Given the description of an element on the screen output the (x, y) to click on. 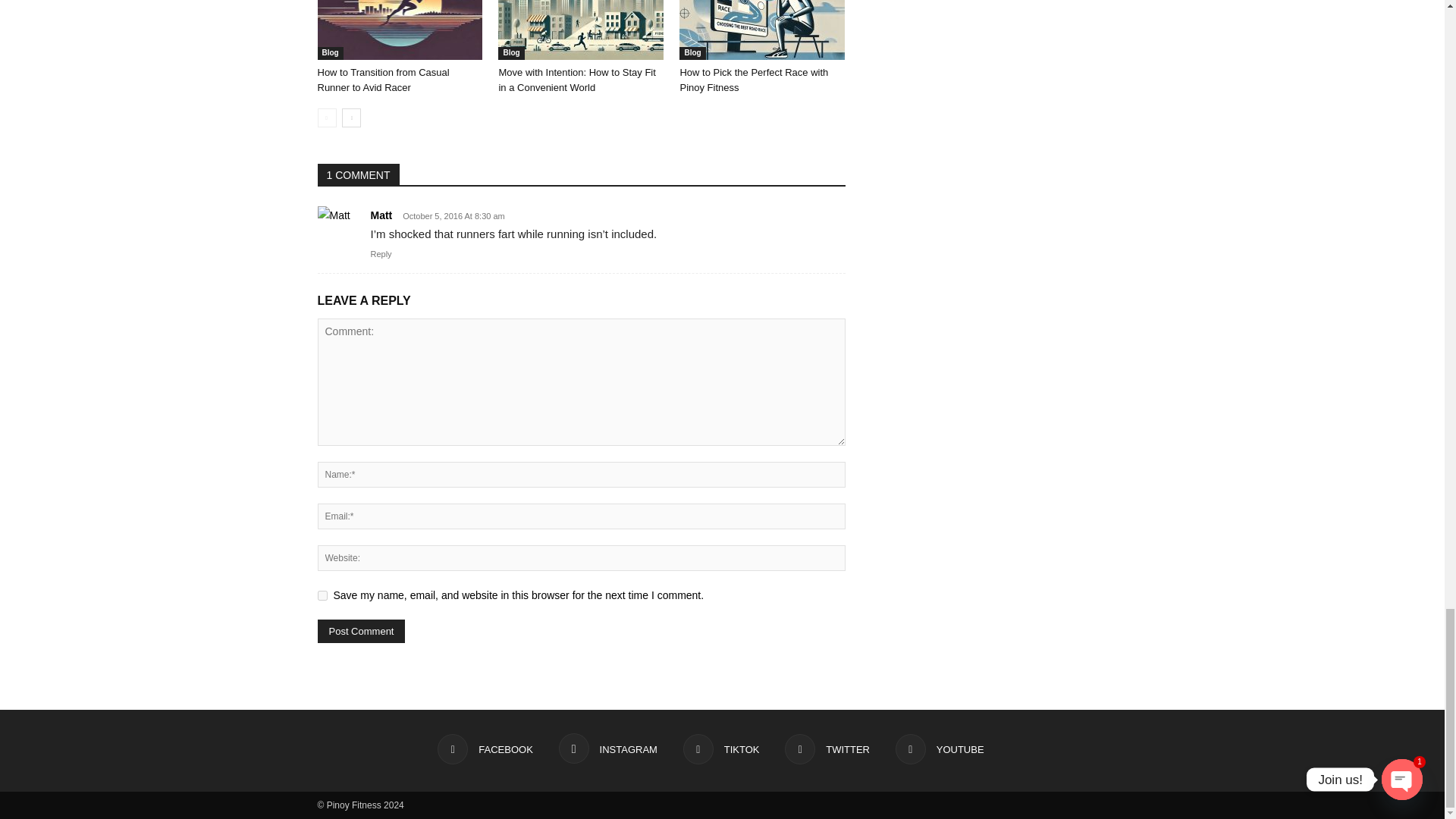
Post Comment (360, 630)
yes (321, 595)
